Given the description of an element on the screen output the (x, y) to click on. 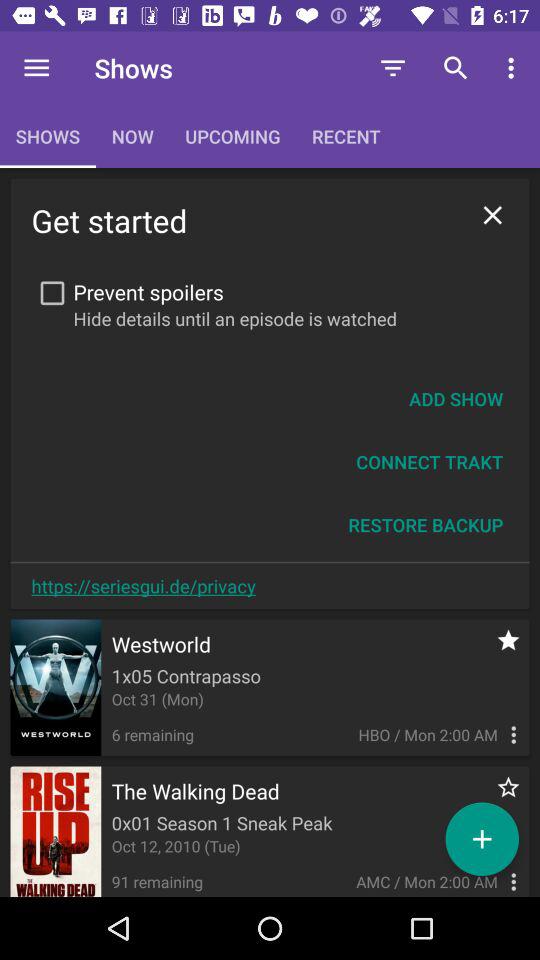
select item next to the the walking dead icon (497, 797)
